Given the description of an element on the screen output the (x, y) to click on. 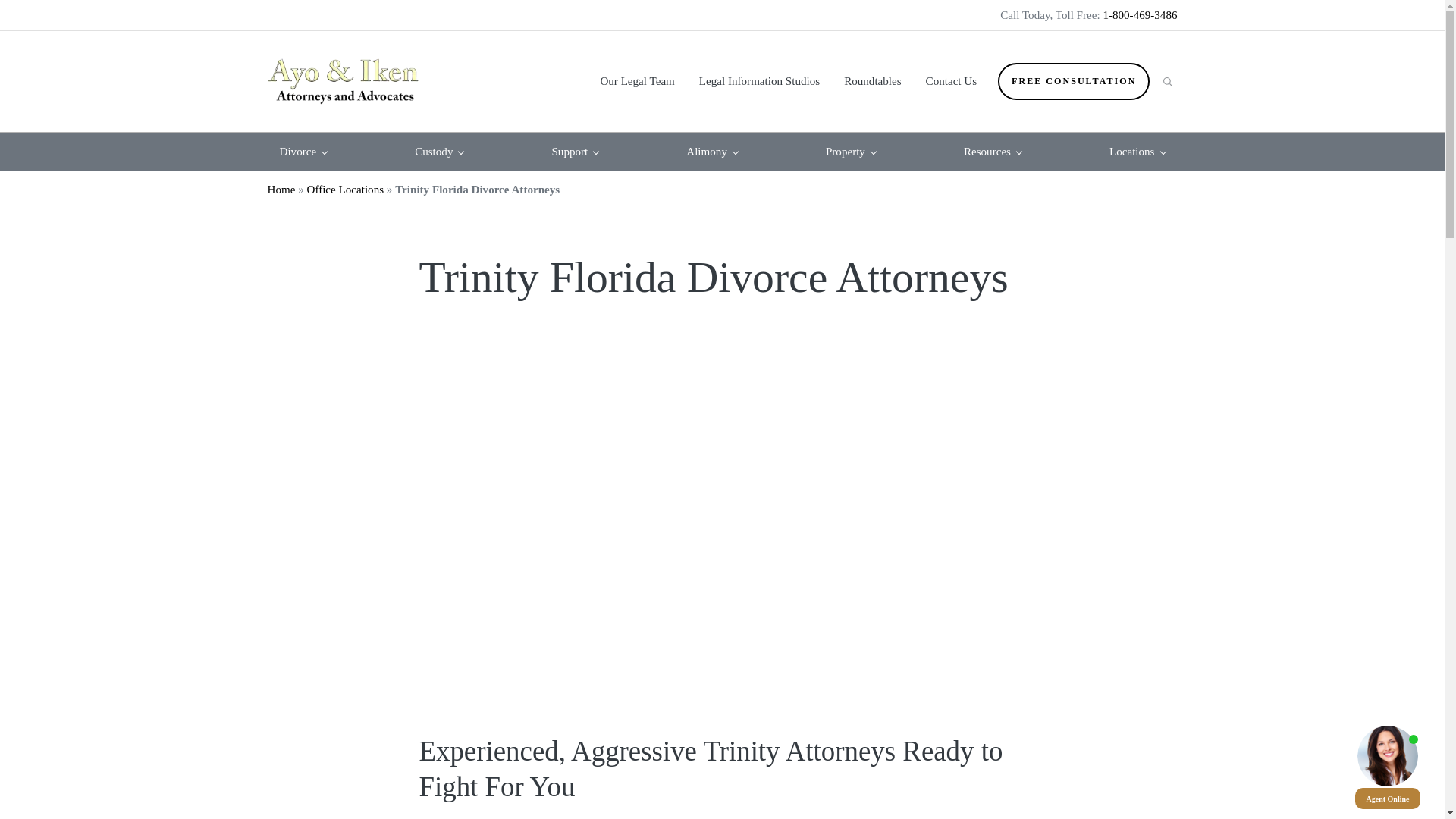
Our Legal Team (636, 80)
Contact Us (952, 80)
1-800-469-3486 (1139, 15)
Legal Information Studios (759, 80)
FREE CONSULTATION (1073, 81)
Roundtables (871, 80)
